Given the description of an element on the screen output the (x, y) to click on. 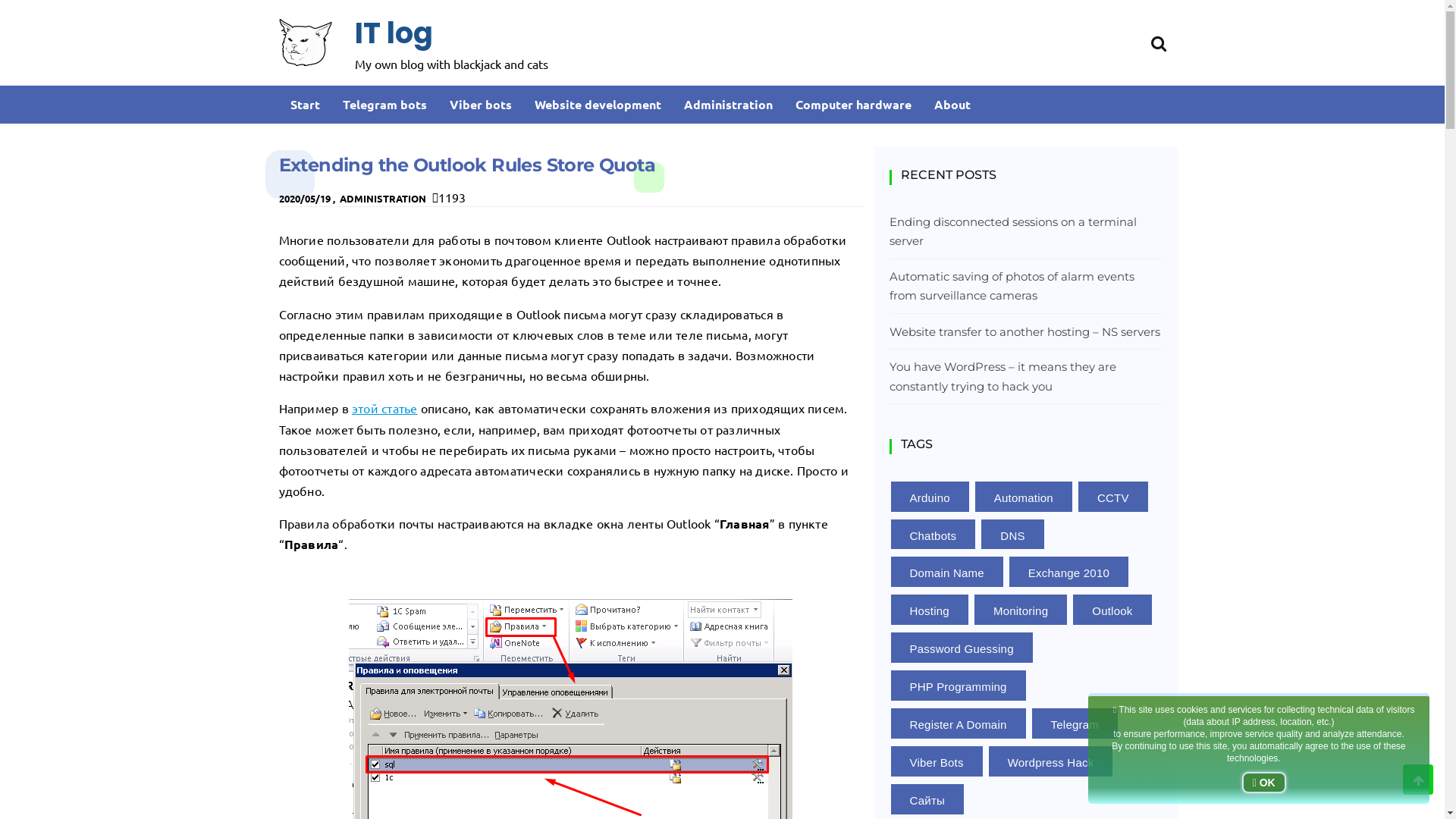
Viber bots Element type: text (480, 104)
PHP Programming Element type: text (957, 685)
Administration Element type: text (727, 104)
Telegram Element type: text (1075, 723)
Website development Element type: text (597, 104)
2020/05/19 Element type: text (304, 197)
Computer hardware Element type: text (853, 104)
Viber Bots Element type: text (936, 761)
IT log Element type: text (393, 32)
Chatbots Element type: text (932, 534)
About Element type: text (951, 104)
Ending disconnected sessions on a terminal server Element type: text (1024, 231)
Domain Name Element type: text (946, 571)
Monitoring Element type: text (1020, 609)
DNS Element type: text (1012, 534)
Outlook Element type: text (1112, 609)
Register A Domain Element type: text (957, 723)
Automation Element type: text (1023, 496)
ADMINISTRATION Element type: text (382, 197)
Hosting Element type: text (928, 609)
Wordpress Hack Element type: text (1050, 761)
Start Element type: text (305, 104)
Exchange 2010 Element type: text (1068, 571)
Telegram bots Element type: text (383, 104)
Arduino Element type: text (929, 496)
Search Element type: hover (1158, 40)
CCTV Element type: text (1113, 496)
Password Guessing Element type: text (961, 647)
